Given the description of an element on the screen output the (x, y) to click on. 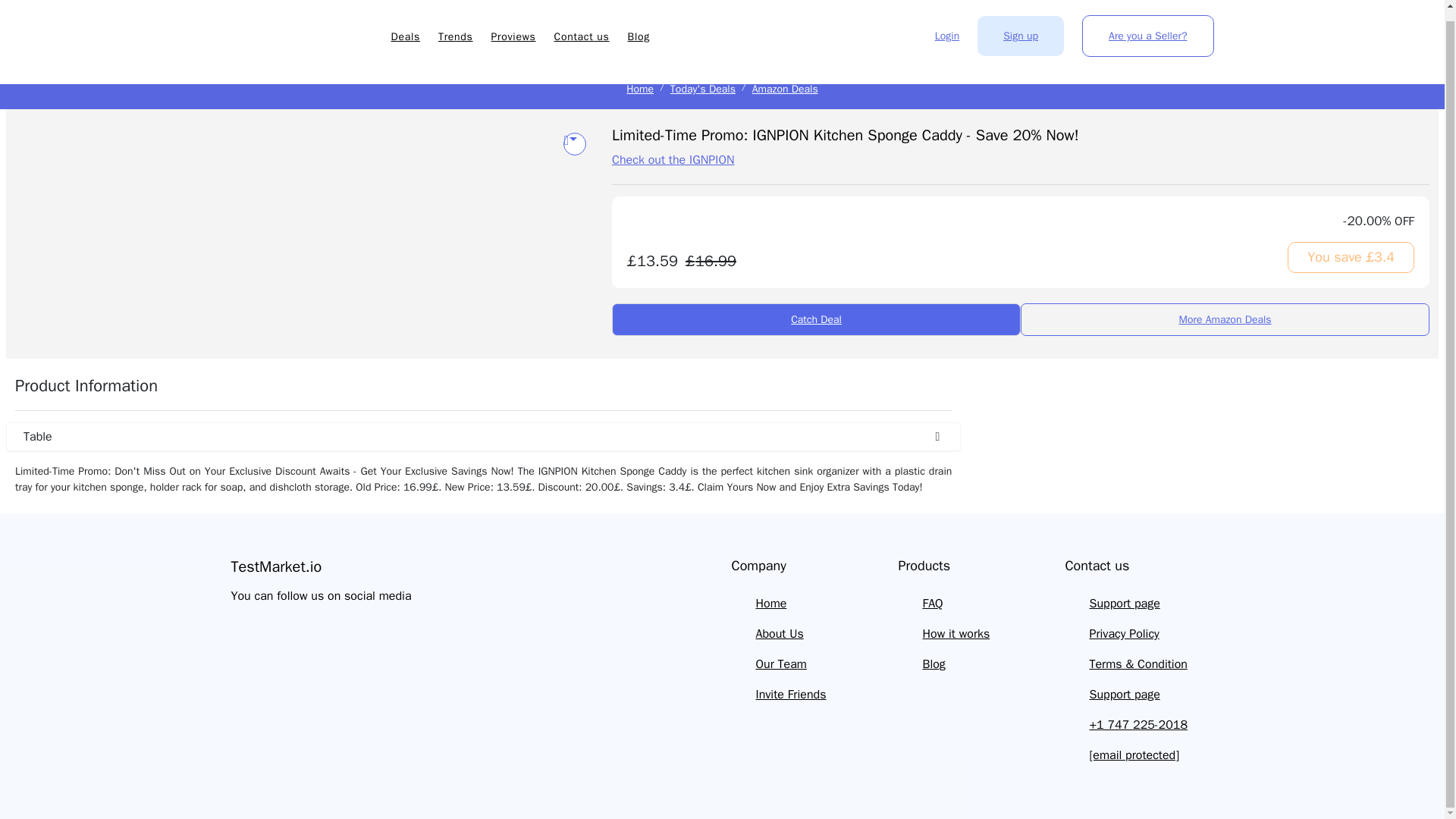
Are you a Seller? (1146, 24)
Blog (638, 25)
Deals (405, 25)
FAQ (931, 603)
Today's Deals (702, 88)
Home (639, 88)
Login (946, 25)
About Us (779, 633)
Home (770, 603)
Contact us (582, 25)
Invite Friends (790, 694)
Amazon Deals (785, 88)
Our Team (780, 663)
Trends (455, 25)
Check out the IGNPION (672, 159)
